Given the description of an element on the screen output the (x, y) to click on. 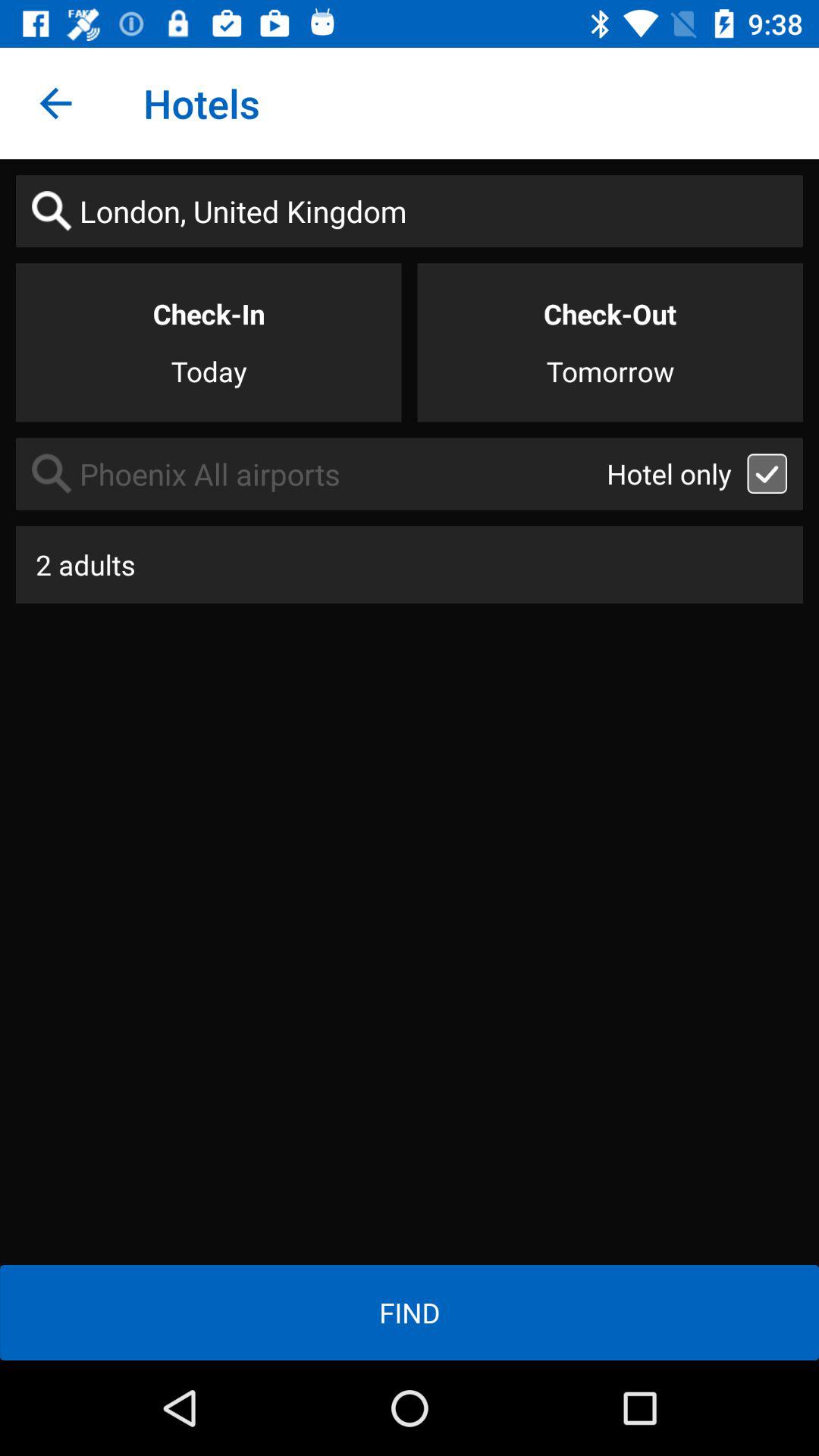
choose item above check-in icon (409, 211)
